Given the description of an element on the screen output the (x, y) to click on. 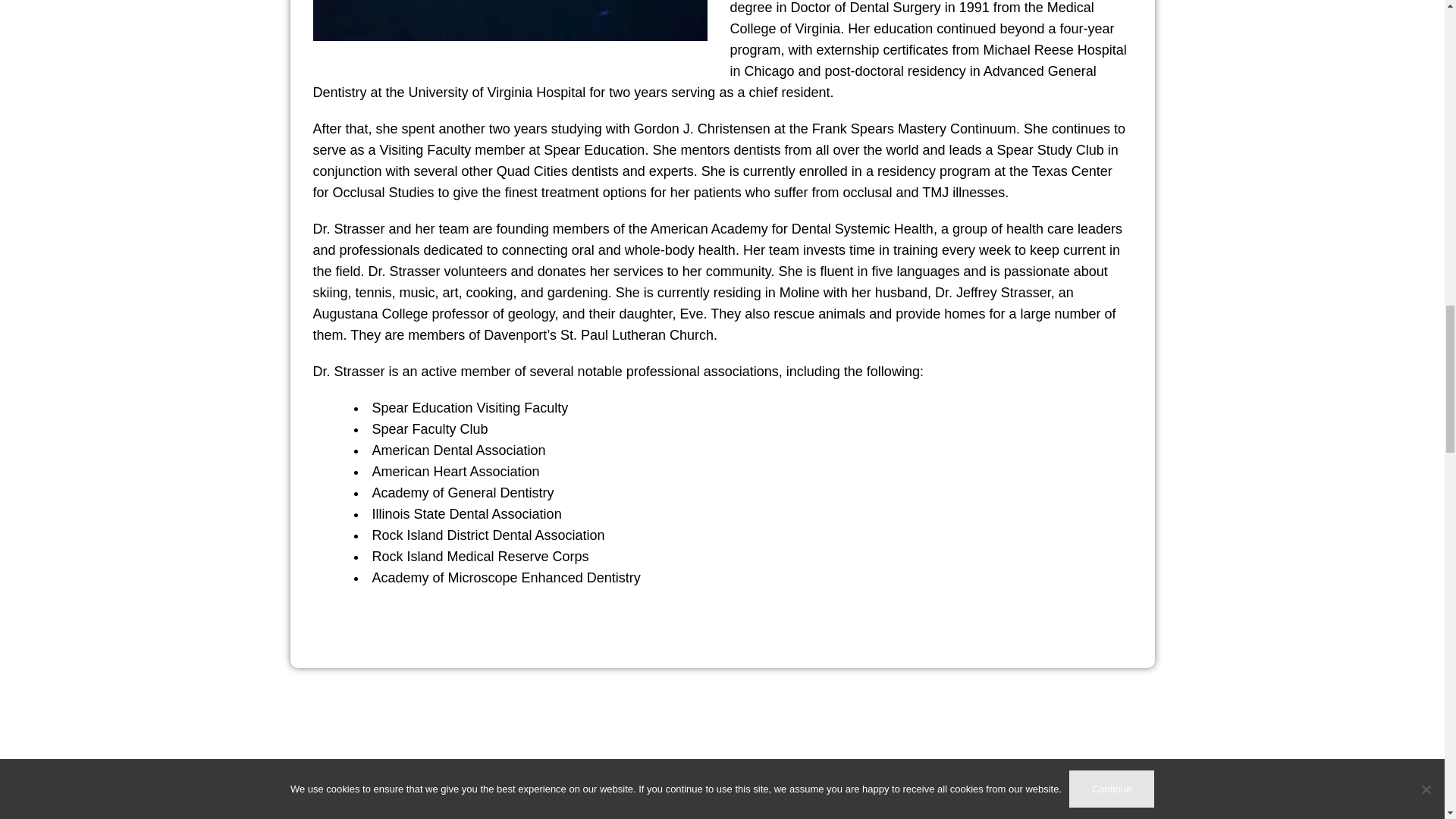
Muna Strasser DDS, PC (721, 762)
